Given the description of an element on the screen output the (x, y) to click on. 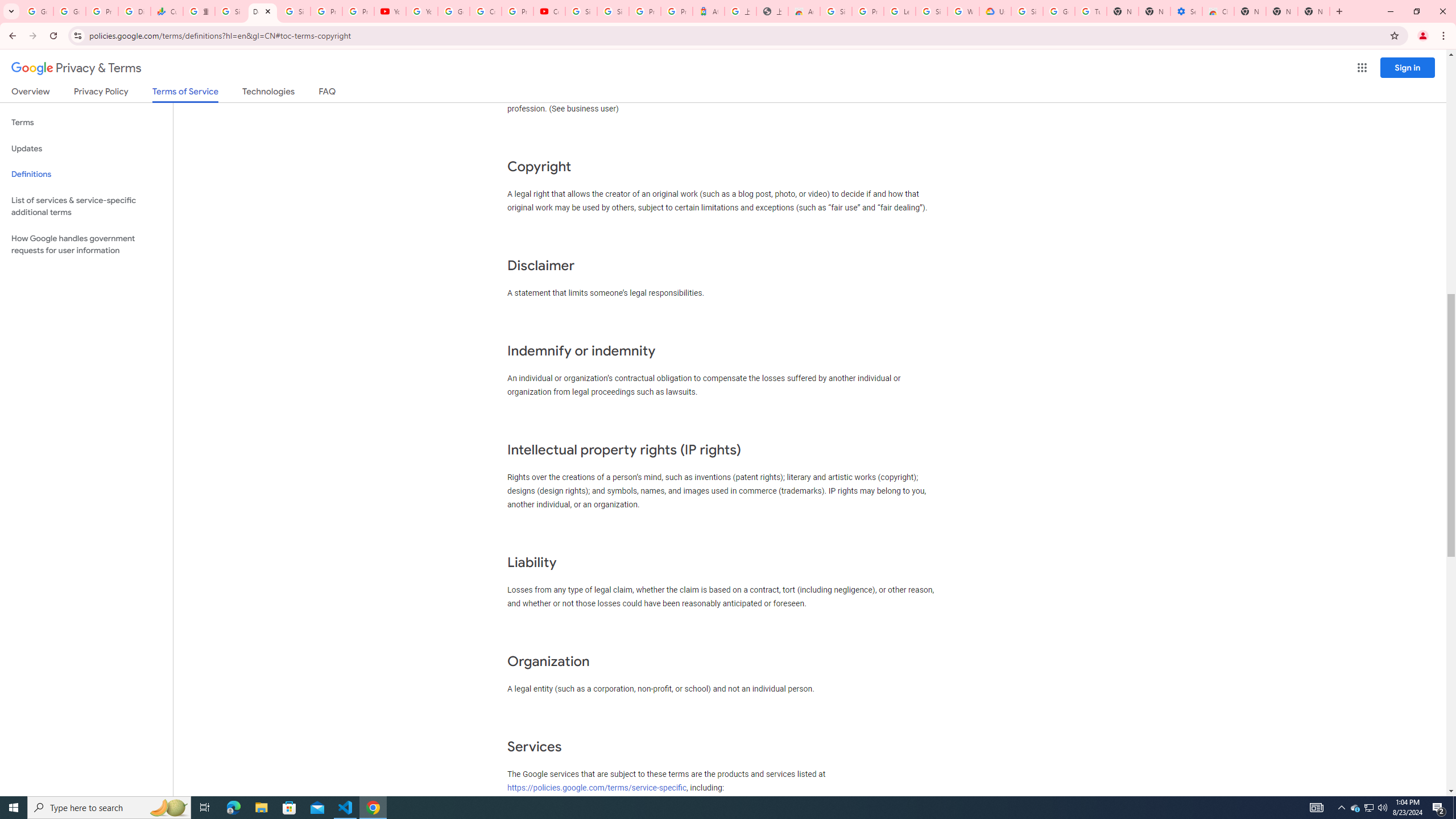
Sign in - Google Accounts (931, 11)
Content Creator Programs & Opportunities - YouTube Creators (549, 11)
Privacy Checkup (358, 11)
Sign in - Google Accounts (836, 11)
Turn cookies on or off - Computer - Google Account Help (1091, 11)
